Given the description of an element on the screen output the (x, y) to click on. 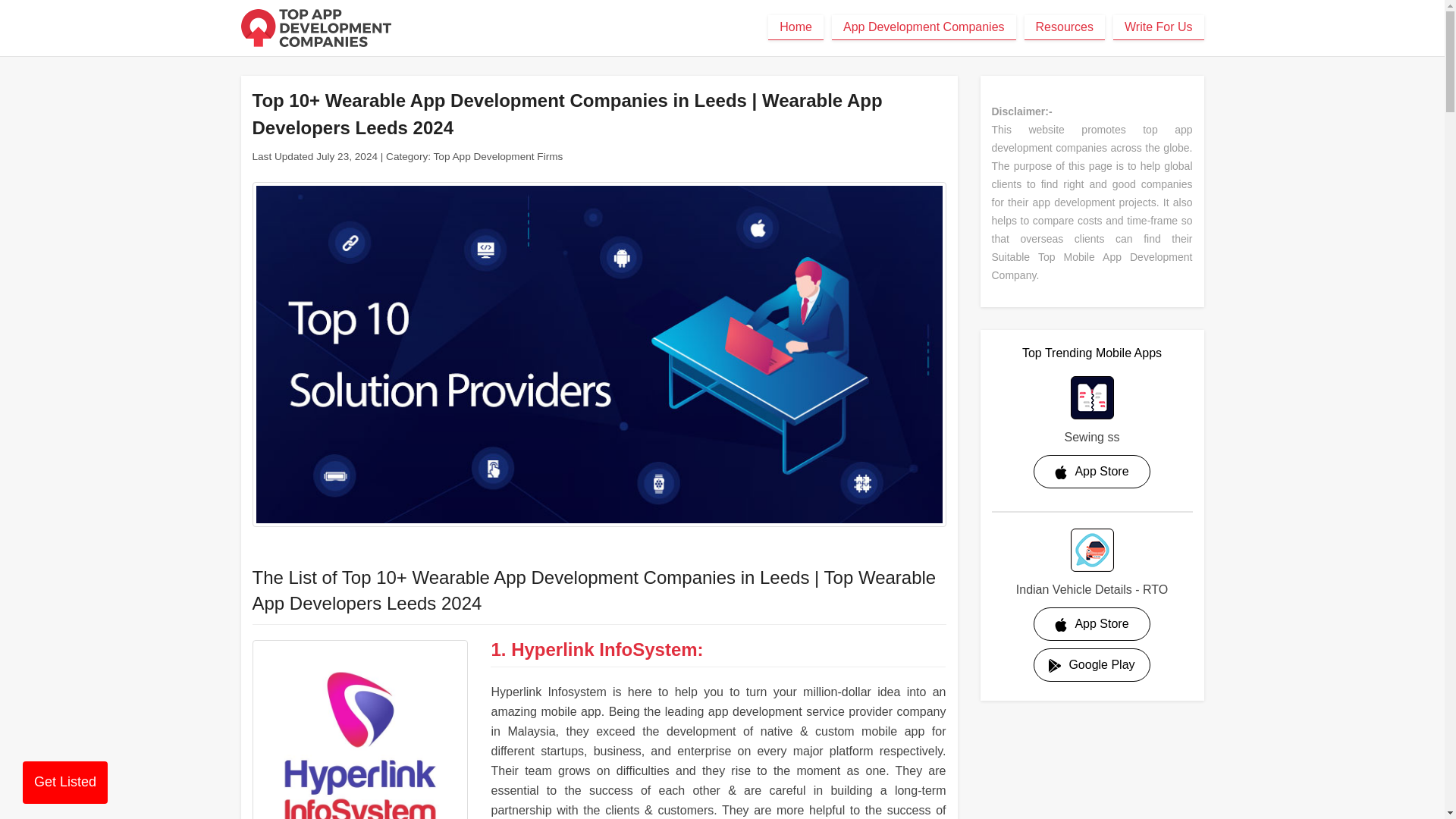
Write For Us (1158, 27)
Hyperlink InfoSystem (604, 649)
Hyperlink InfoSystem (359, 729)
App Development Companies (923, 27)
Resources (1065, 27)
Home (796, 27)
